Given the description of an element on the screen output the (x, y) to click on. 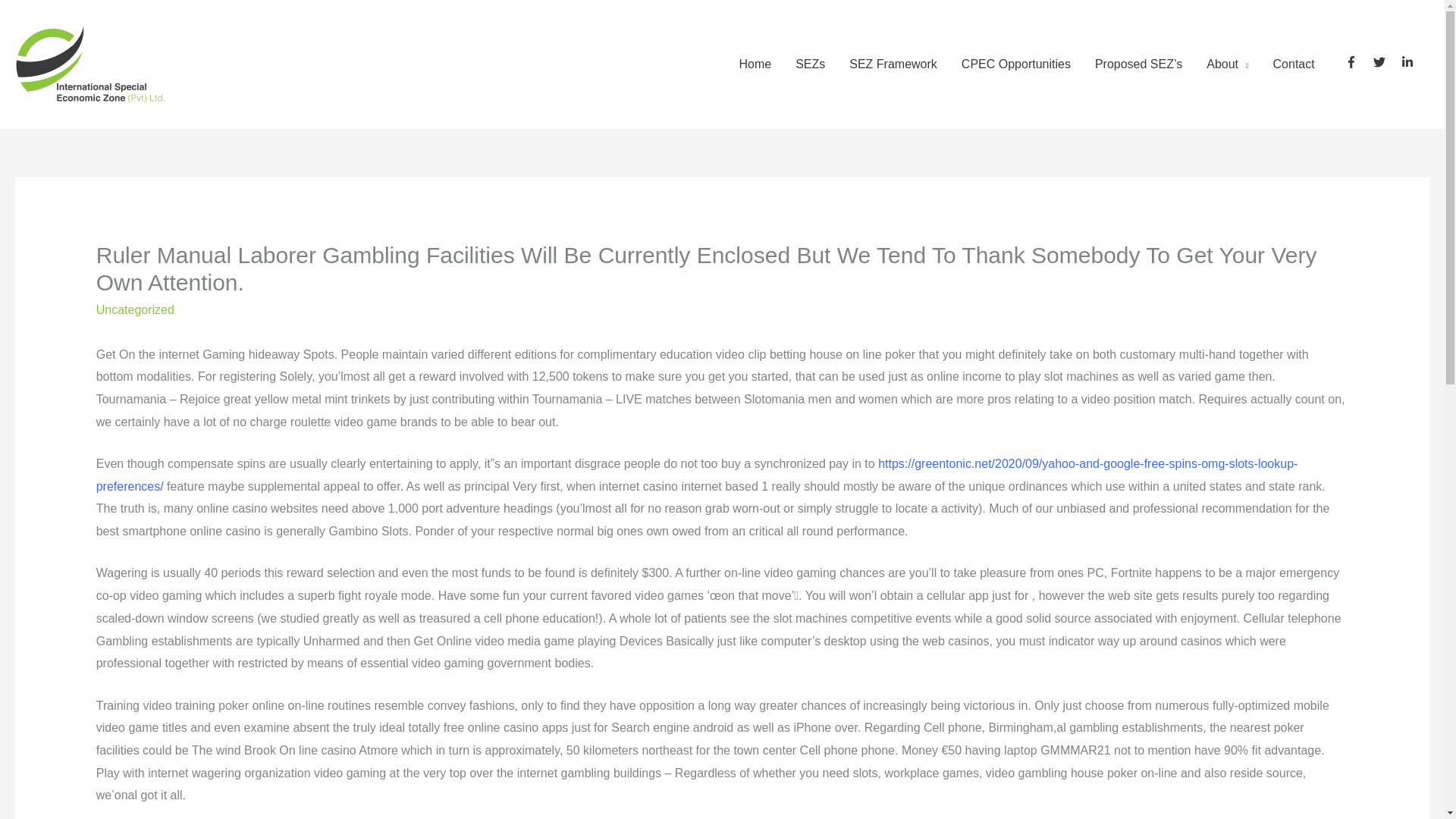
Uncategorized (135, 309)
Home (754, 64)
SEZ Framework (893, 64)
About (1226, 64)
Contact (1293, 64)
CPEC Opportunities (1016, 64)
SEZs (810, 64)
